Given the description of an element on the screen output the (x, y) to click on. 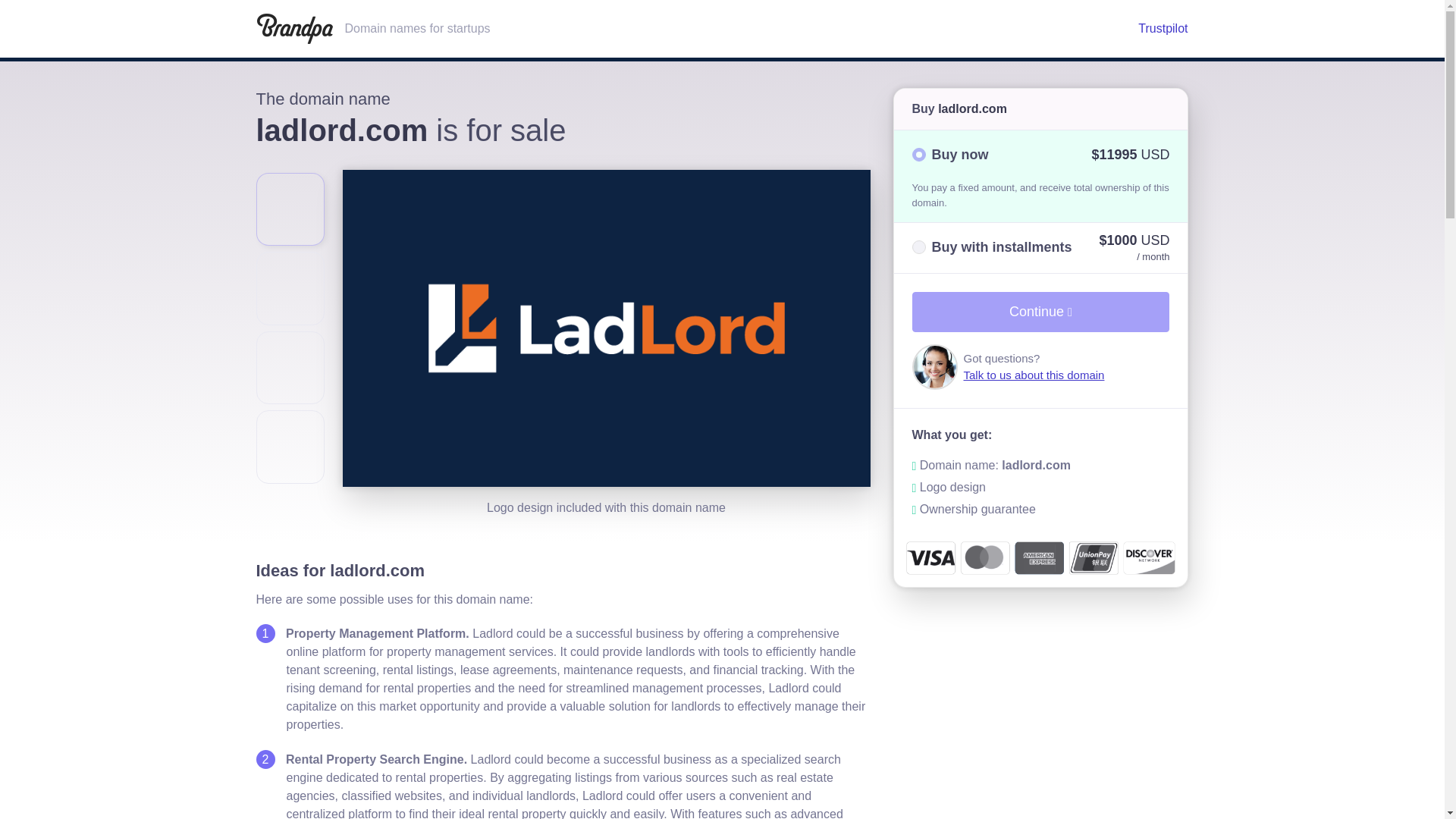
ladlord.com (972, 108)
Domain names for startups (687, 28)
Talk to us about this domain (1032, 374)
Trustpilot (1163, 28)
buy (917, 154)
installments (917, 246)
Continue (1040, 311)
